Given the description of an element on the screen output the (x, y) to click on. 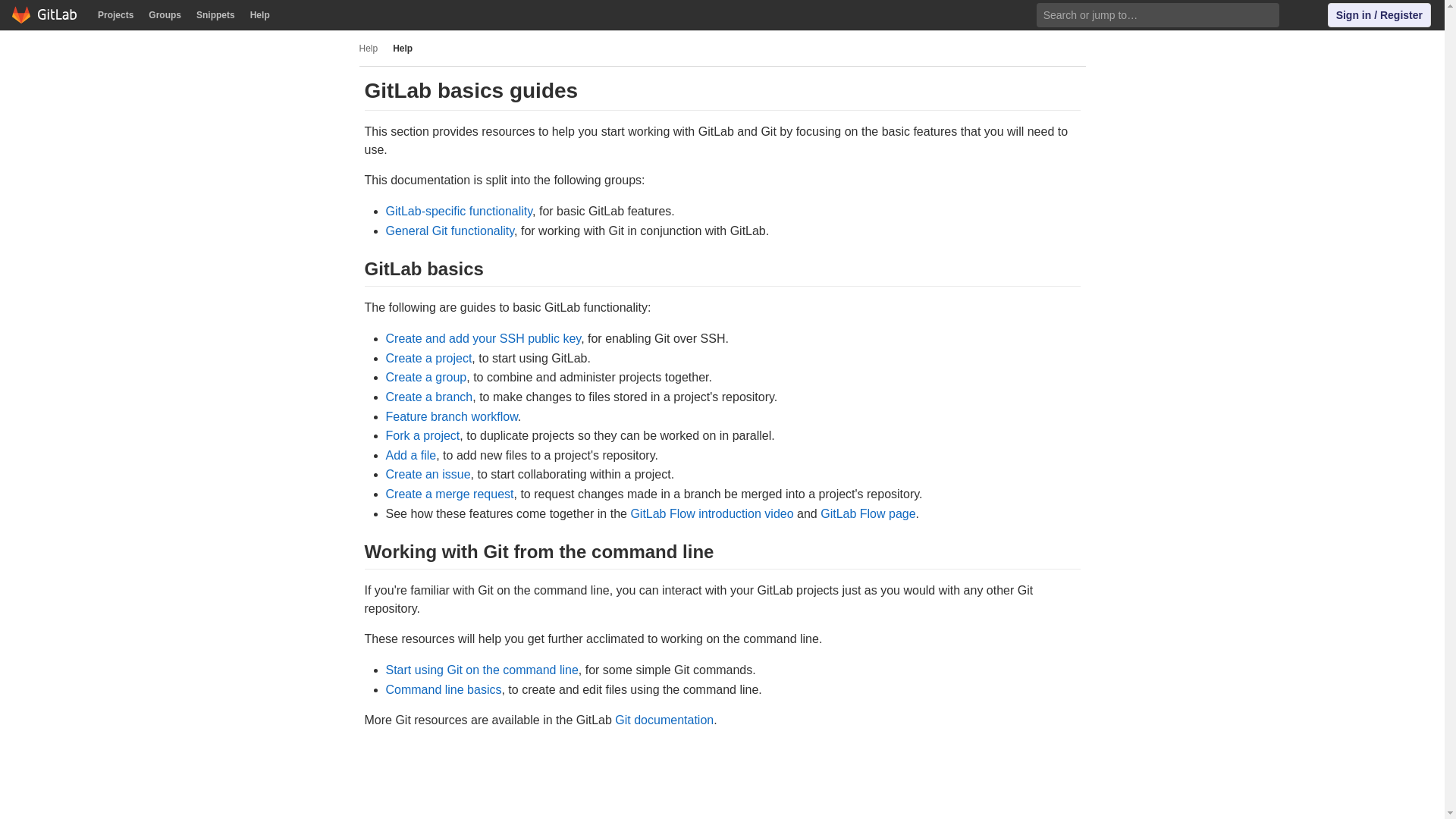
Help (1304, 15)
General Git functionality (449, 230)
GitLab-specific functionality (458, 210)
Start using Git on the command line (481, 669)
Dashboard (44, 15)
Help (368, 48)
GitLab Flow introduction video (711, 512)
Groups (164, 15)
Add a file (410, 454)
Fork a project (422, 435)
Create and add your SSH public key (482, 338)
Projects (115, 15)
Create a group (425, 377)
Help (402, 47)
